Given the description of an element on the screen output the (x, y) to click on. 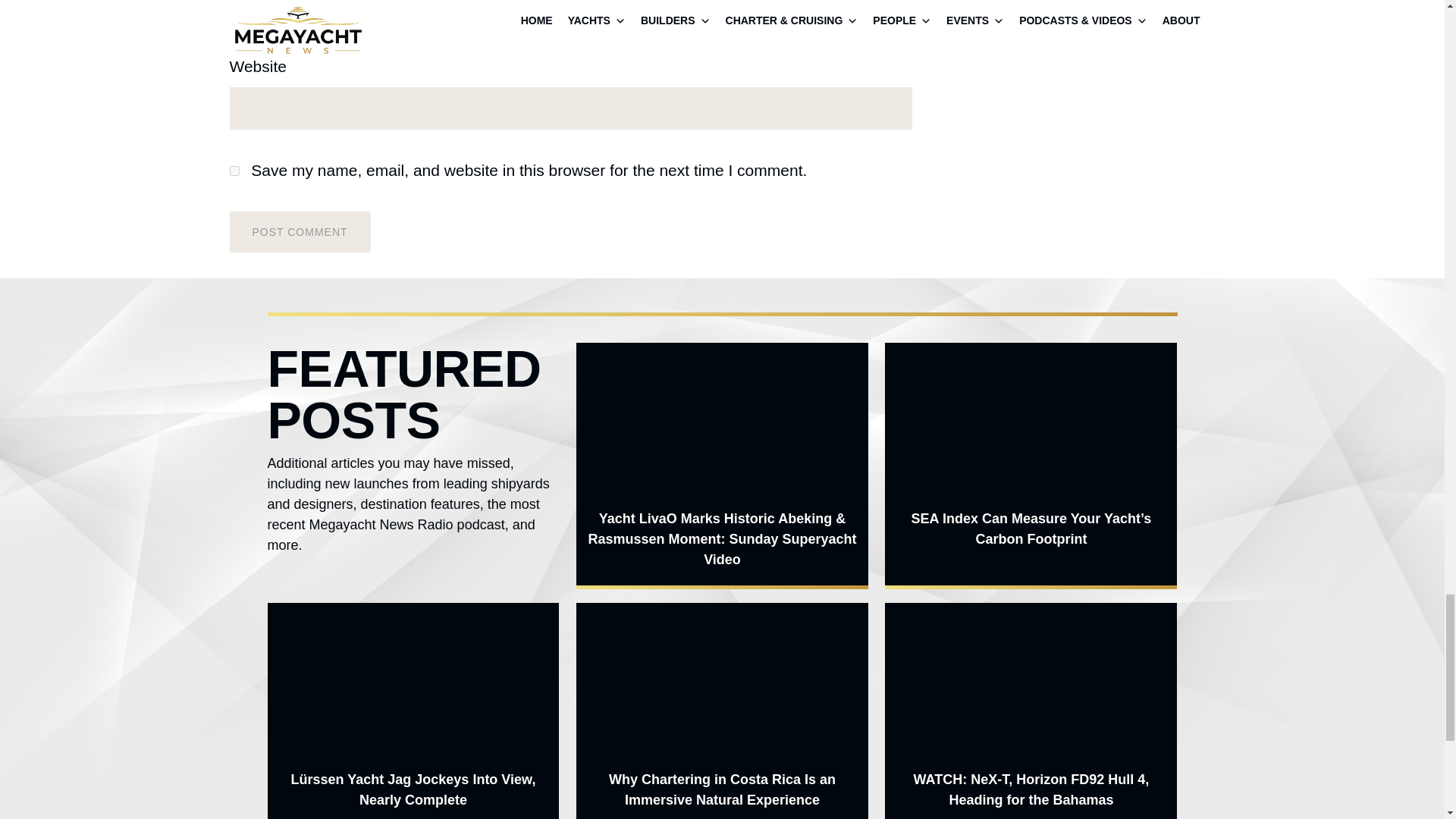
yes (233, 171)
Post Comment (298, 231)
